Given the description of an element on the screen output the (x, y) to click on. 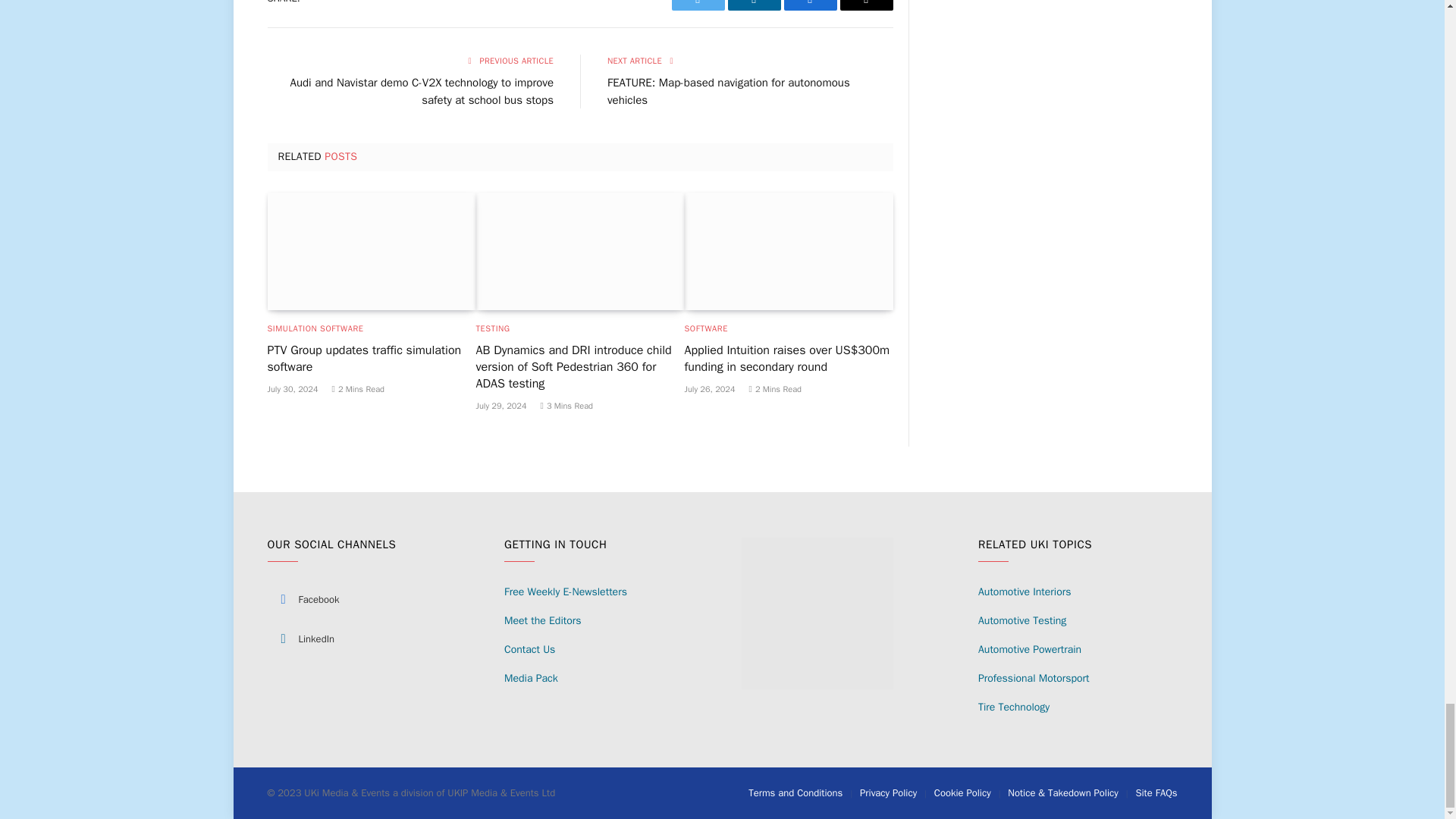
Share on LinkedIn (754, 5)
